Given the description of an element on the screen output the (x, y) to click on. 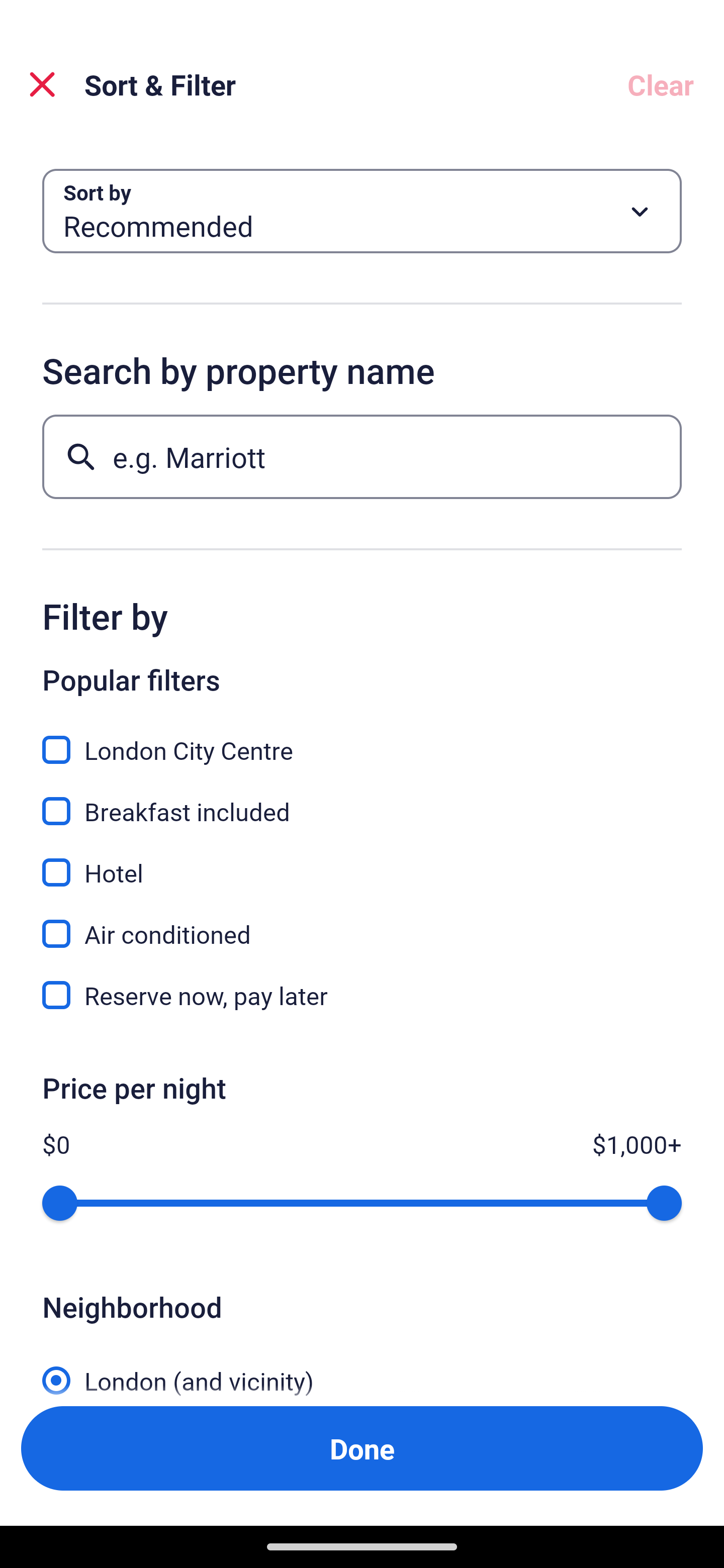
Close Sort and Filter (42, 84)
Clear (660, 84)
Sort by Button Recommended (361, 211)
e.g. Marriott Button (361, 455)
London City Centre, London City Centre (361, 738)
Breakfast included, Breakfast included (361, 800)
Hotel, Hotel (361, 861)
Air conditioned, Air conditioned (361, 922)
Reserve now, pay later, Reserve now, pay later (361, 995)
Apply and close Sort and Filter Done (361, 1448)
